Given the description of an element on the screen output the (x, y) to click on. 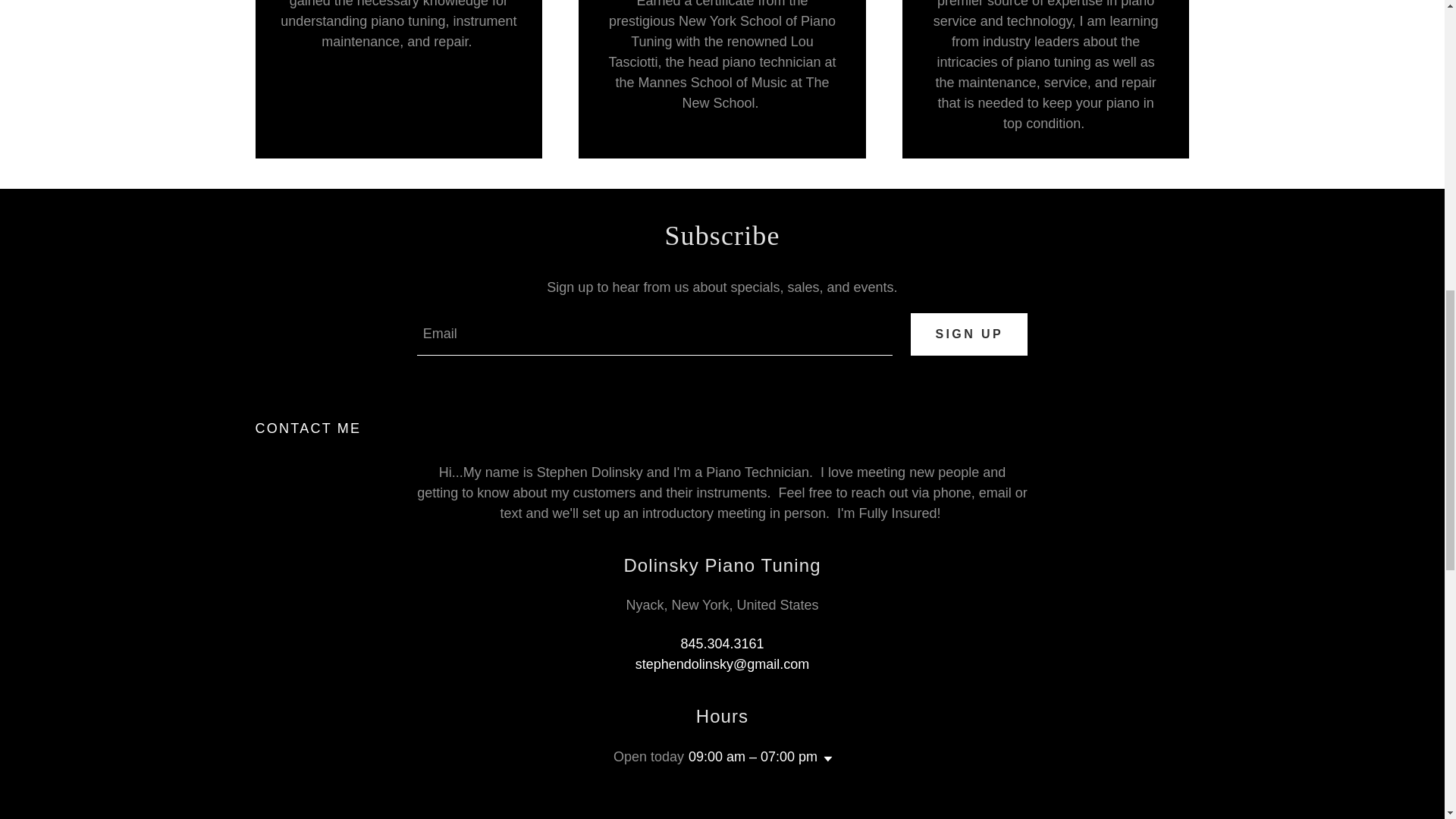
ACCEPT (1274, 324)
845.304.3161 (720, 643)
SIGN UP (969, 333)
